Given the description of an element on the screen output the (x, y) to click on. 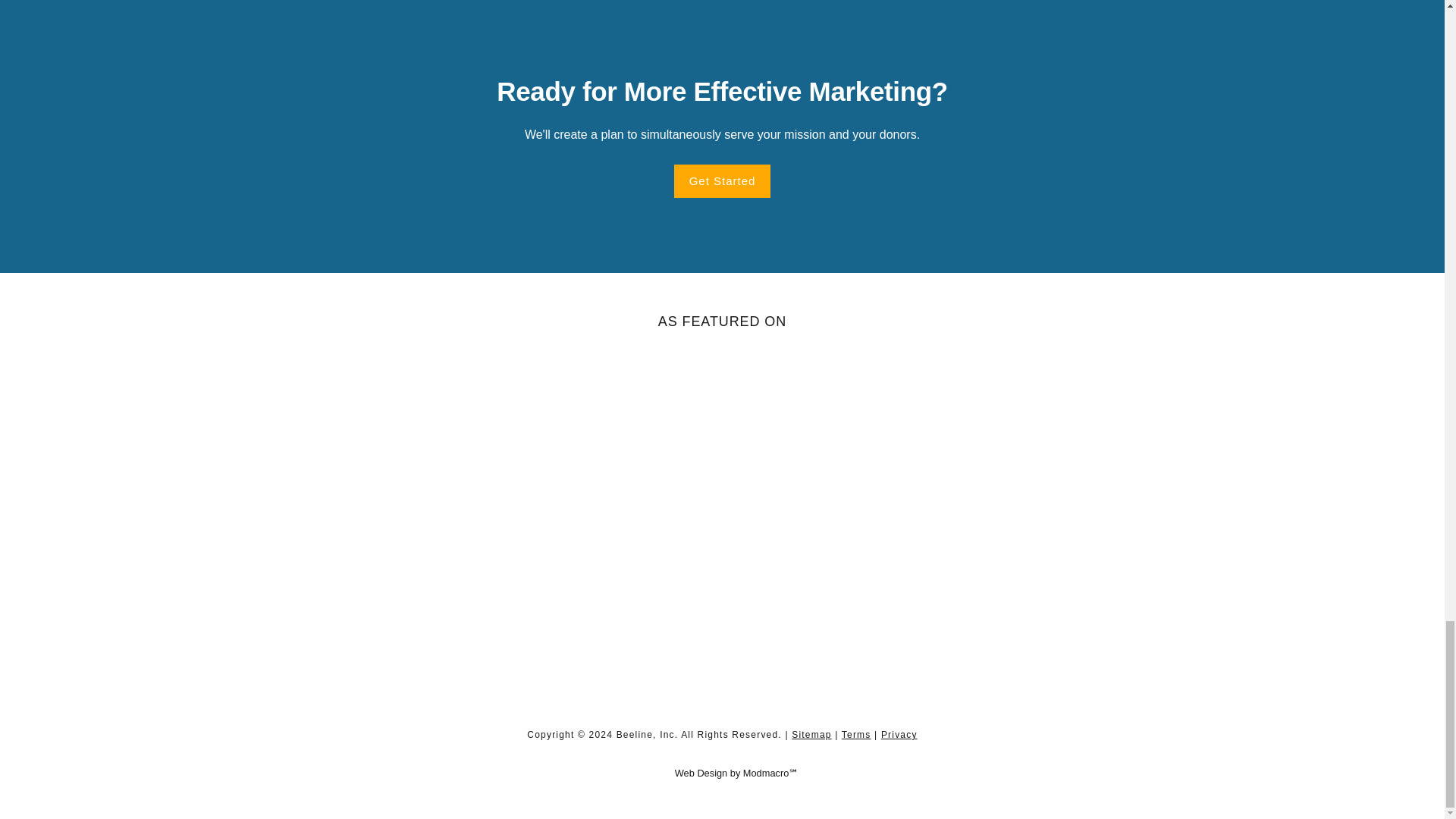
Get Started (722, 181)
Terms (855, 734)
Web Design and SEO (722, 772)
Sitemap (811, 734)
Privacy (898, 734)
